Given the description of an element on the screen output the (x, y) to click on. 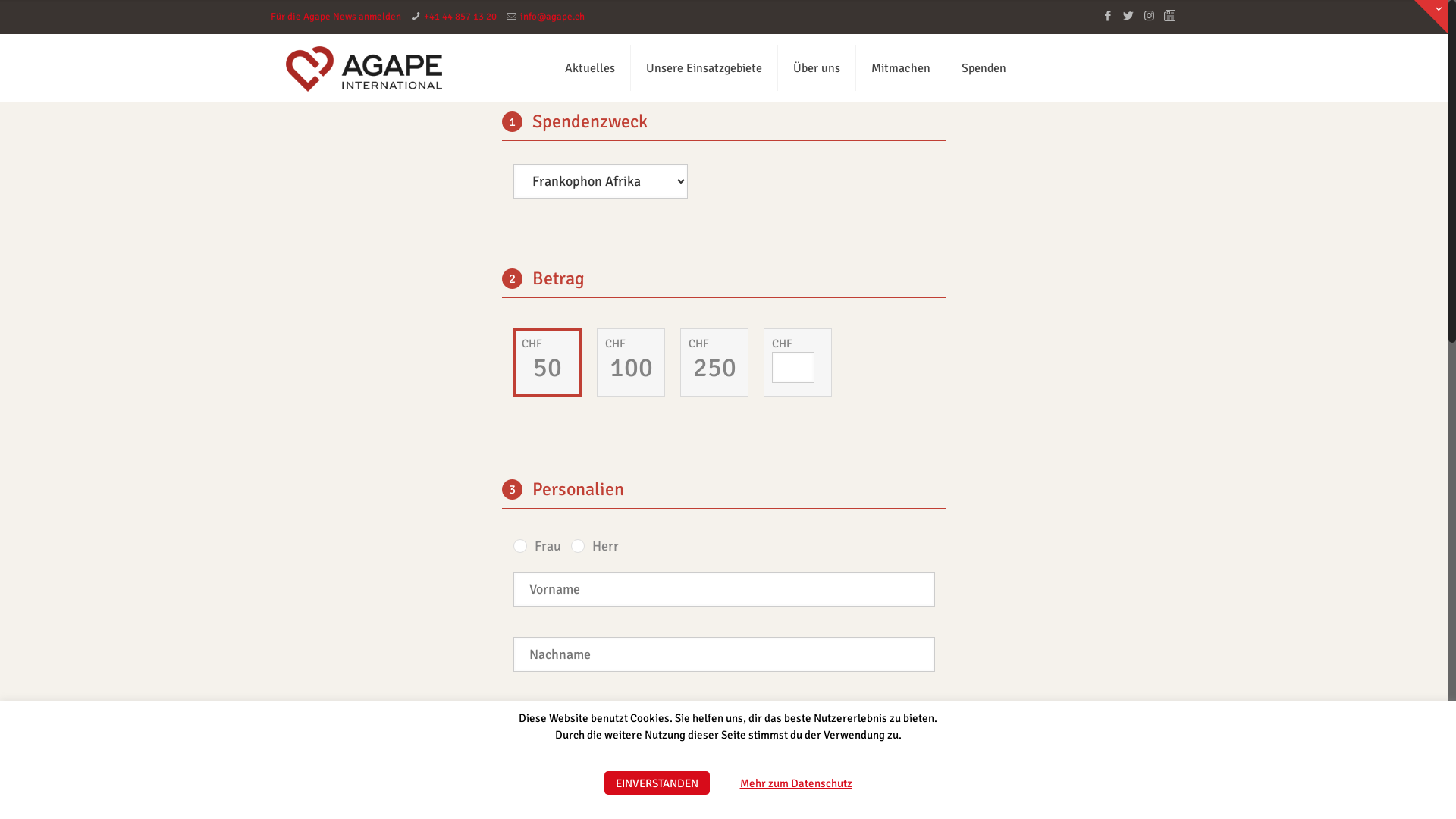
Aktuelles Element type: text (589, 68)
EINVERSTANDEN Element type: text (656, 782)
+41 44 857 13 20 Element type: text (459, 16)
Agape international Element type: hover (363, 68)
Facebook Element type: hover (1108, 15)
info@agape.ch Element type: text (552, 16)
Instagram Element type: hover (1149, 15)
Unsere Einsatzgebiete Element type: text (704, 68)
Spenden Element type: text (983, 68)
Mehr zum Datenschutz Element type: text (796, 783)
Mitmachen Element type: text (901, 68)
Twitter Element type: hover (1128, 15)
